Given the description of an element on the screen output the (x, y) to click on. 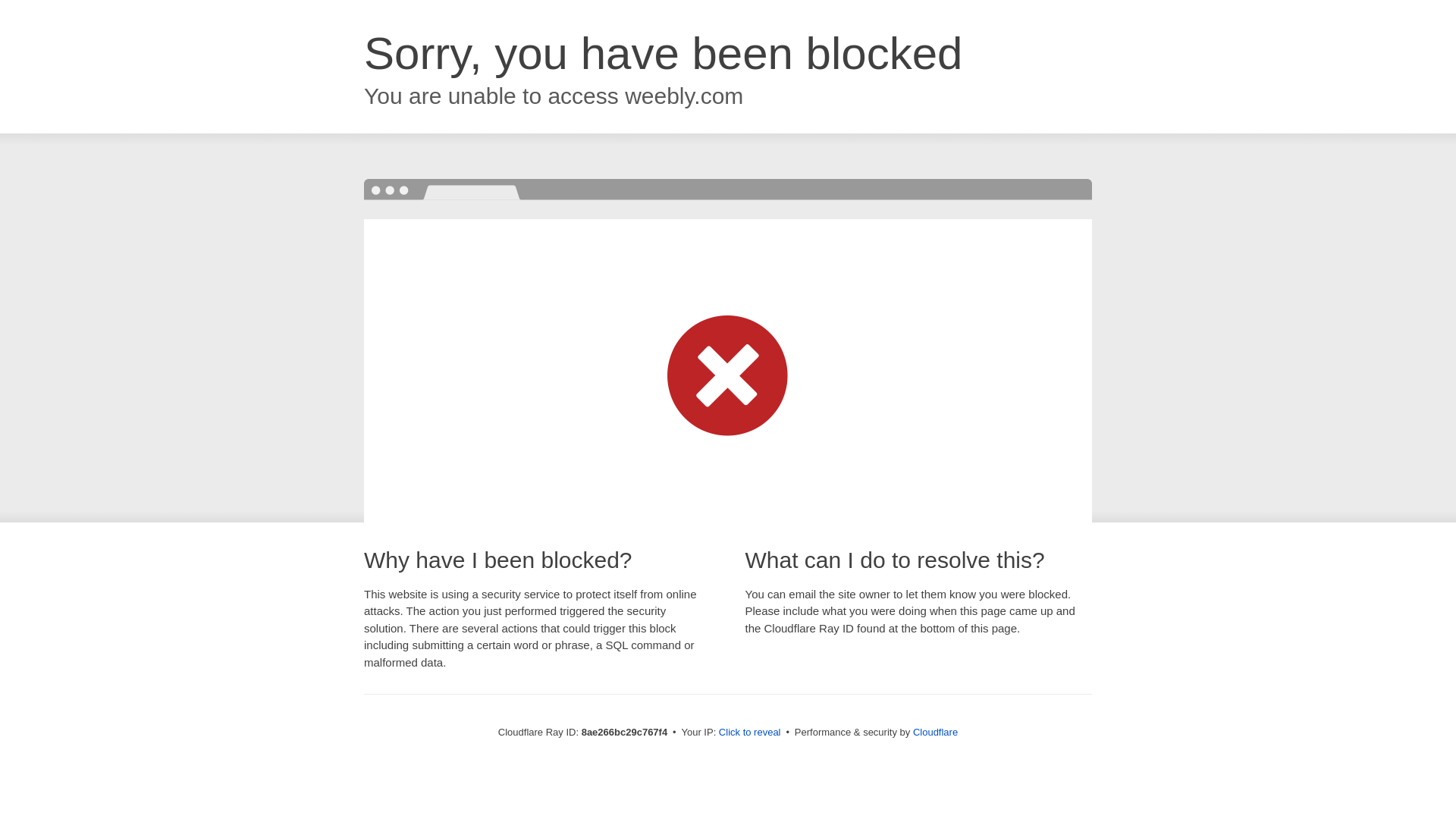
Click to reveal (749, 732)
Cloudflare (935, 731)
